Given the description of an element on the screen output the (x, y) to click on. 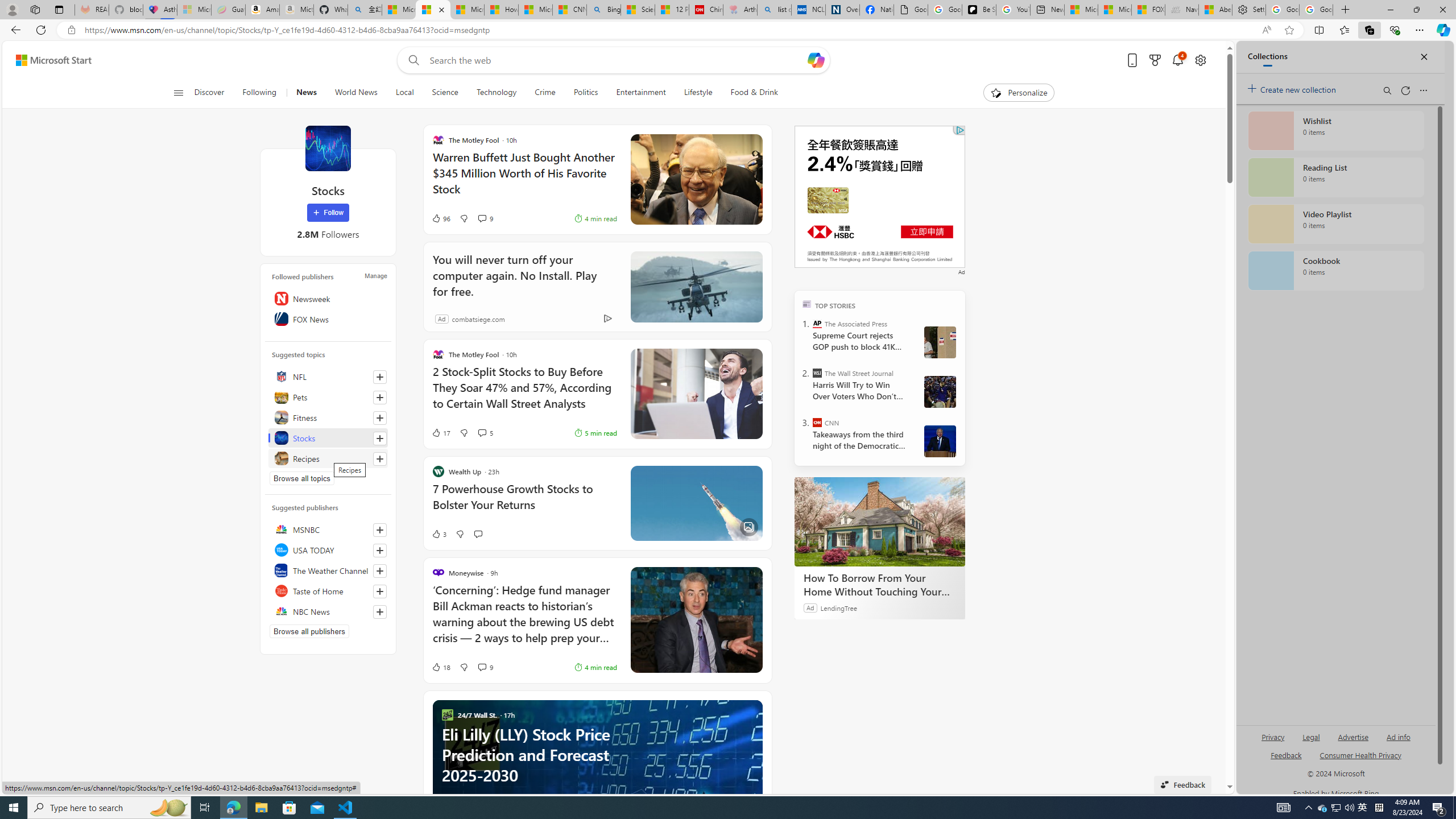
Be Smart | creating Science videos | Patreon (978, 9)
AutomationID: genId96 (1285, 759)
View comments 5 Comment (485, 432)
AutomationID: canvas (879, 196)
